Given the description of an element on the screen output the (x, y) to click on. 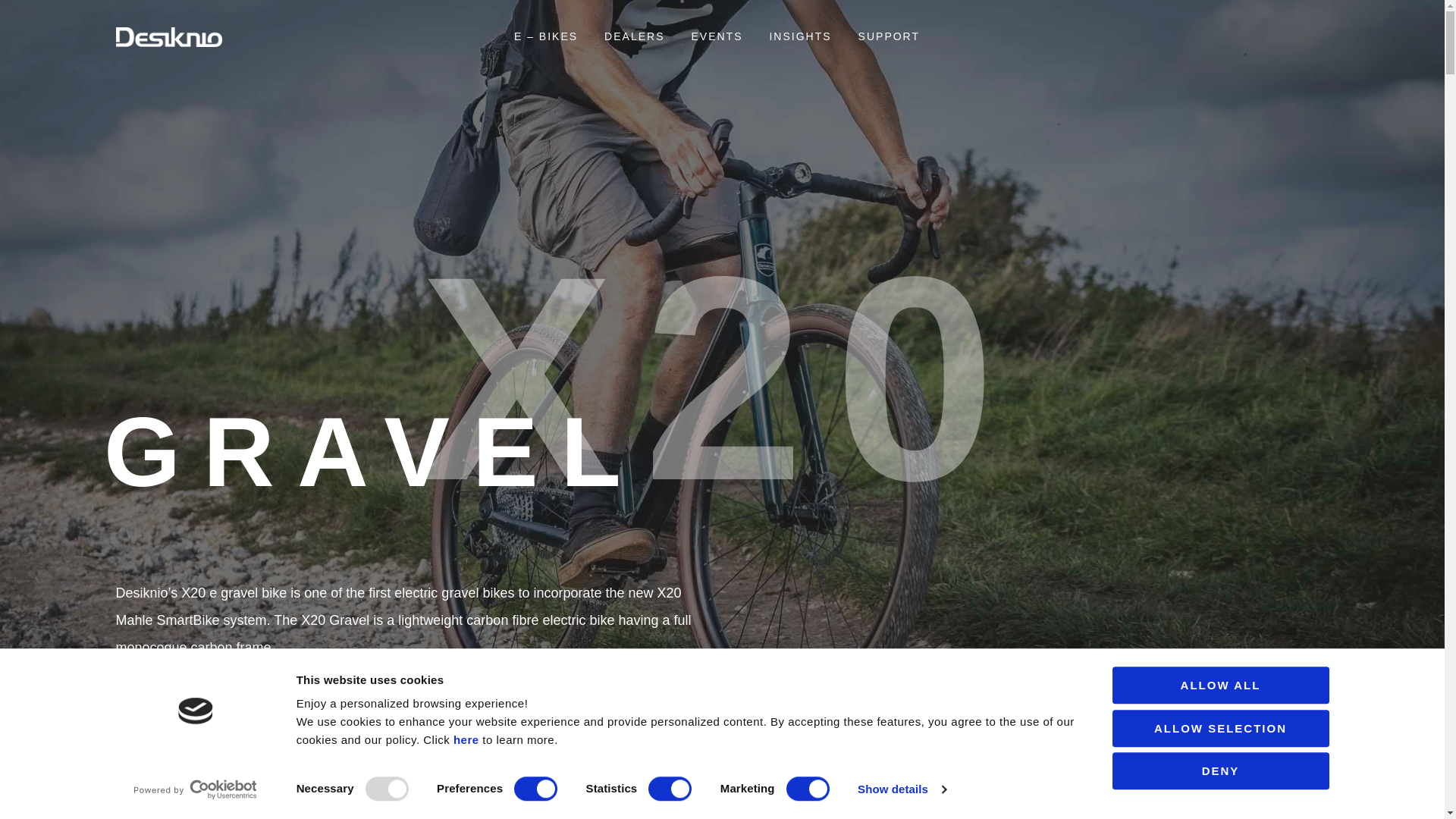
here (465, 739)
DENY (1219, 770)
ALLOW ALL (1219, 684)
Show details (900, 789)
ALLOW SELECTION (1219, 728)
